Given the description of an element on the screen output the (x, y) to click on. 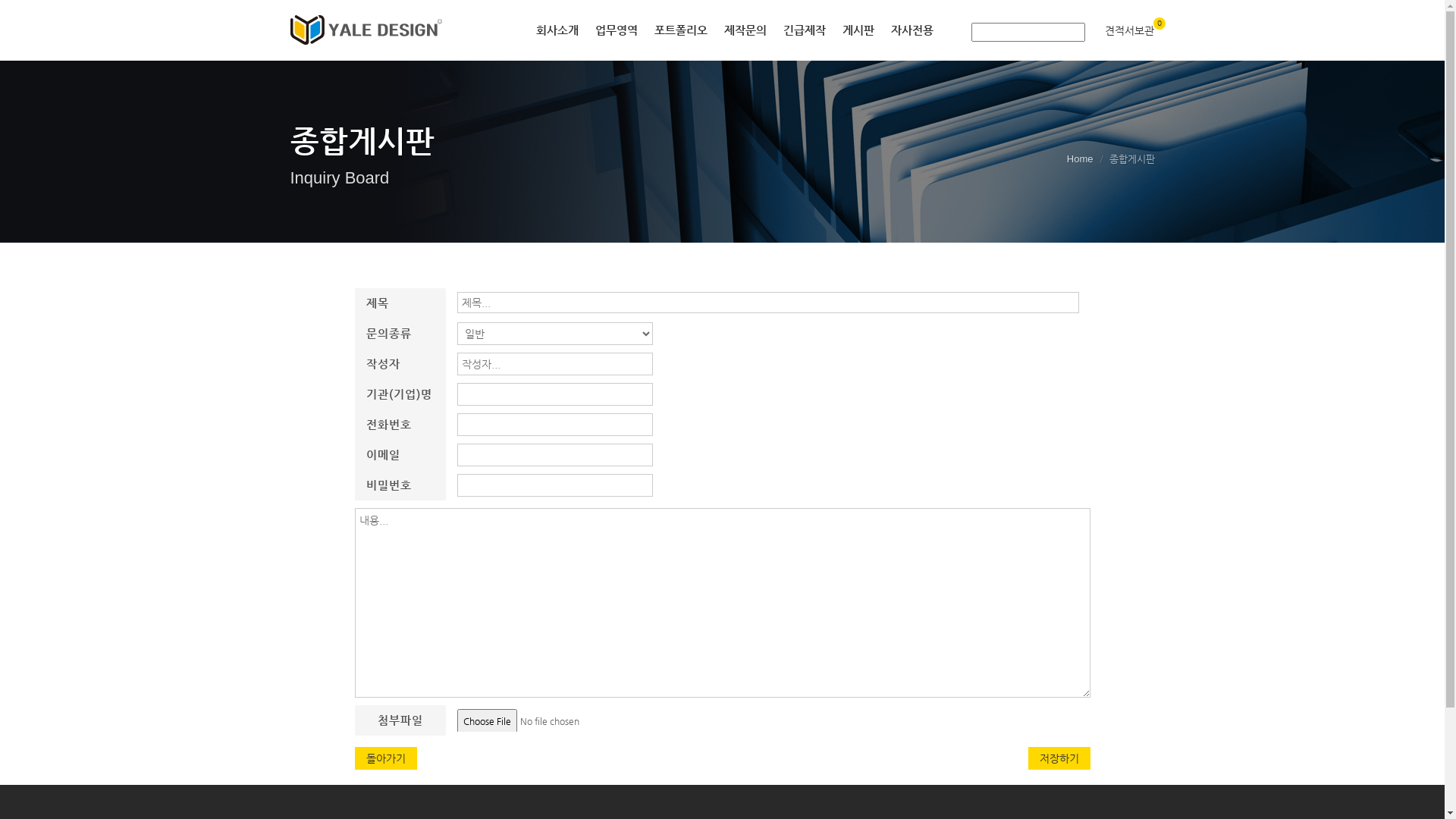
Home Element type: text (1079, 158)
